Given the description of an element on the screen output the (x, y) to click on. 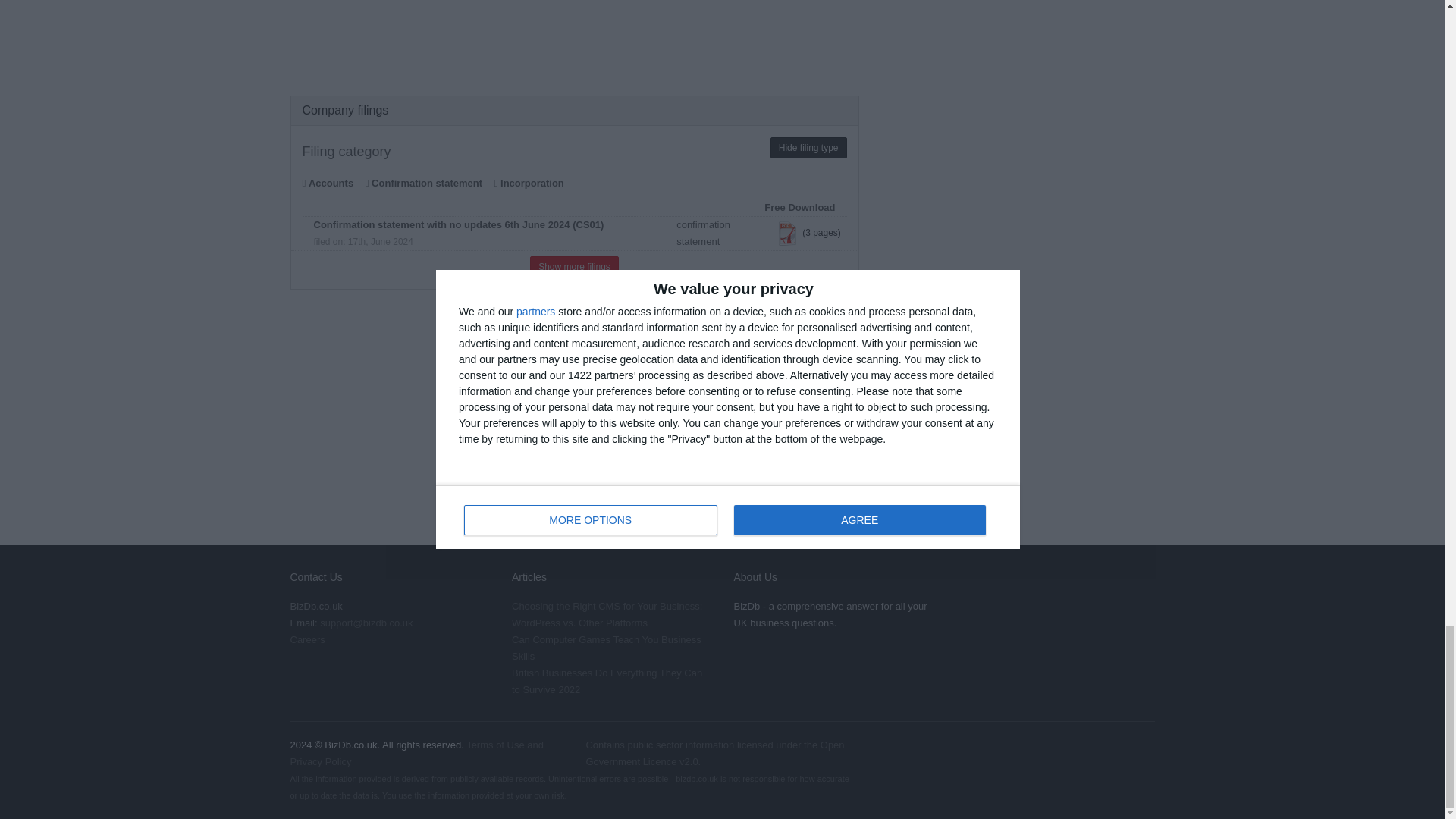
Download the filing (787, 233)
Show more filings (573, 266)
